Given the description of an element on the screen output the (x, y) to click on. 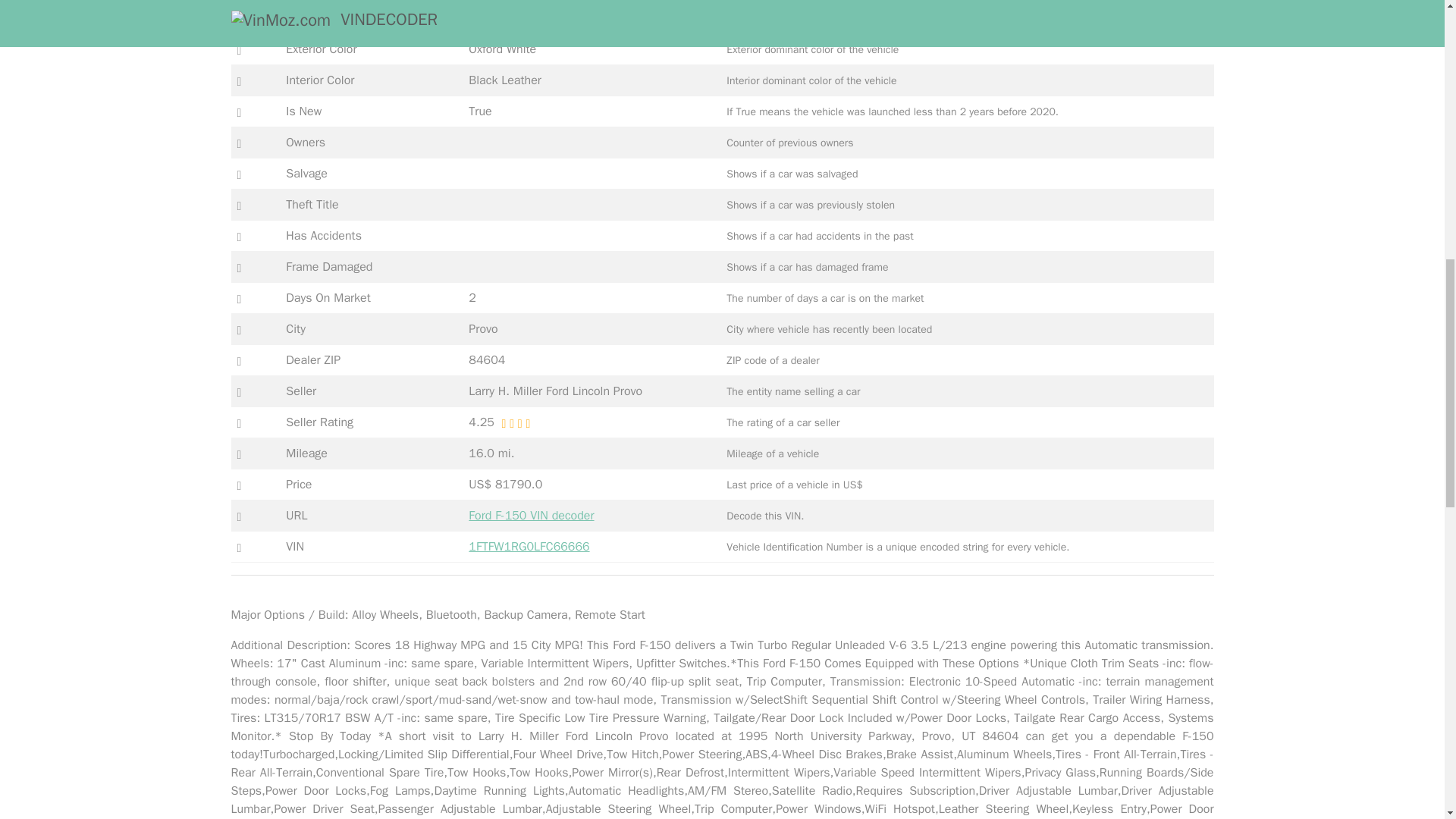
1FTFW1RG0LFC66666 (528, 546)
Ford F-150 VIN decoder (531, 515)
Get Report for 1FTFW1RG0LFC66666 (528, 546)
Ford F-150 VIN decoder (531, 515)
